Given the description of an element on the screen output the (x, y) to click on. 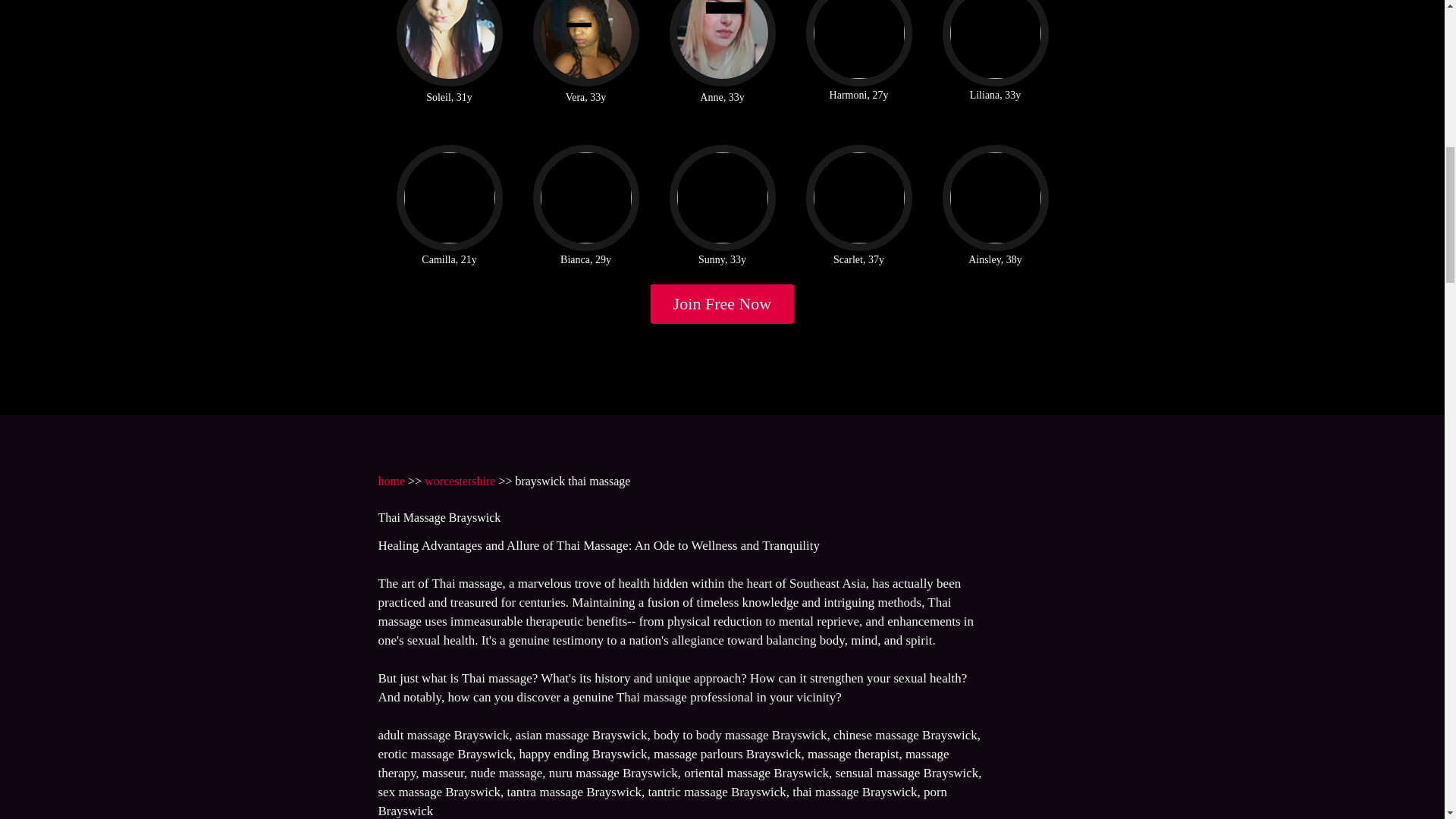
Join Free Now (722, 303)
worcestershire (460, 481)
Join (722, 303)
home (390, 481)
